Given the description of an element on the screen output the (x, y) to click on. 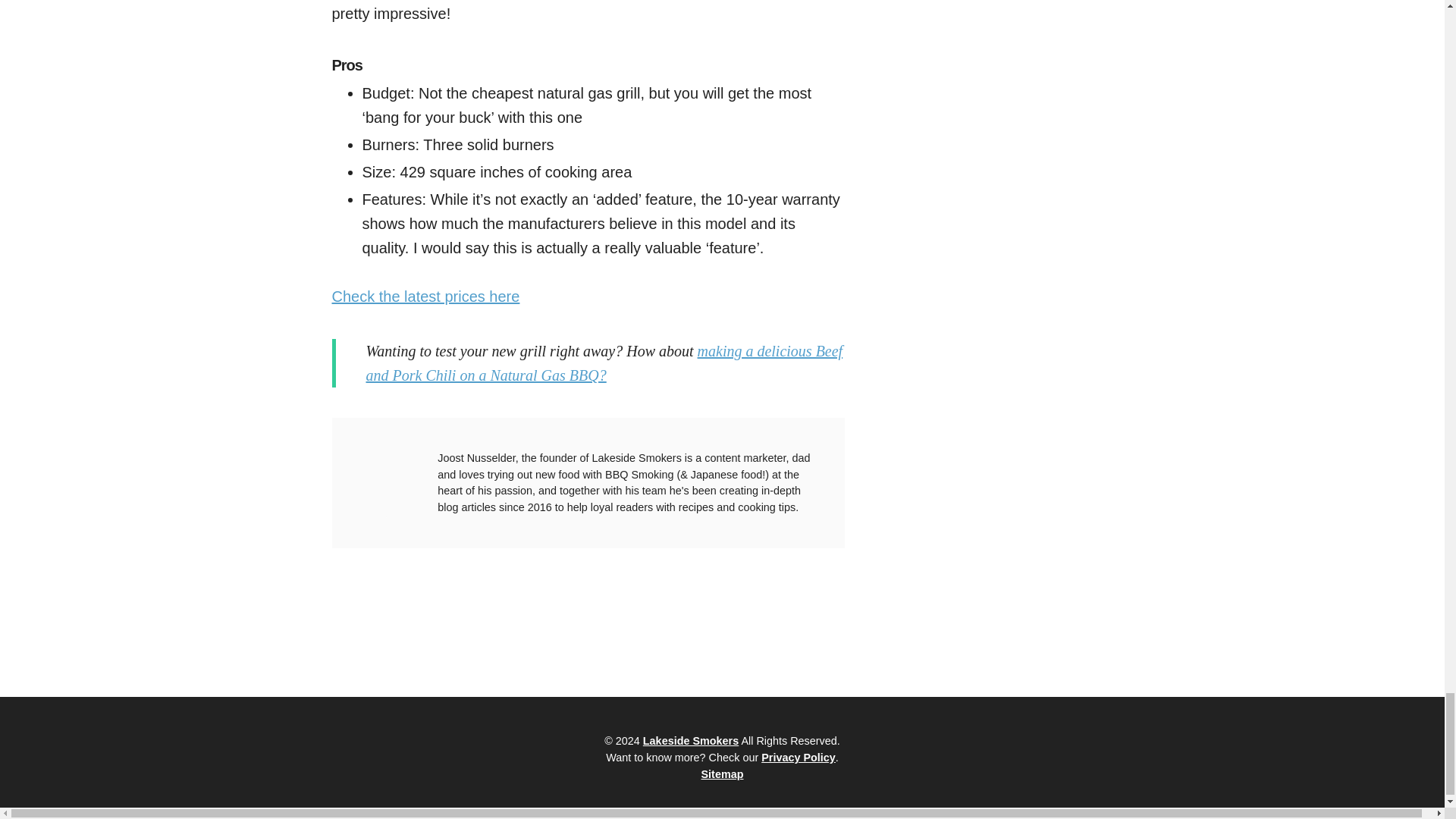
Check the latest prices here (425, 296)
Lakeside Smokers (690, 740)
Lakesidesmokers (690, 740)
Sitemap (721, 774)
Privacy Policy (798, 757)
making a delicious Beef and Pork Chili on a Natural Gas BBQ? (604, 363)
